Given the description of an element on the screen output the (x, y) to click on. 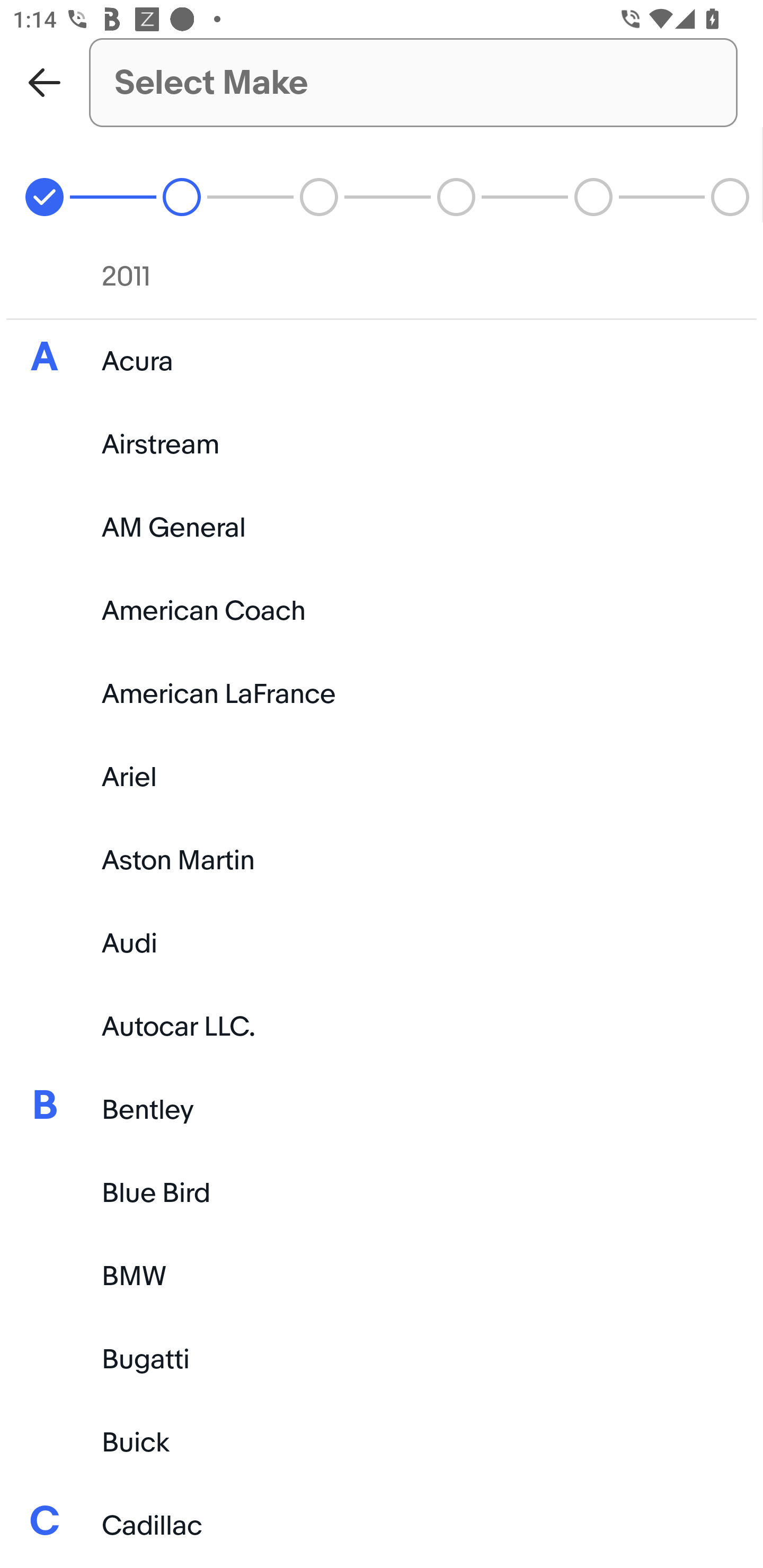
Back (44, 82)
Select Make (413, 82)
A Acura (381, 360)
Airstream (381, 444)
AM General (381, 527)
American Coach (381, 610)
American LaFrance (381, 693)
Ariel (381, 776)
Aston Martin (381, 859)
Audi (381, 942)
Autocar LLC. (381, 1025)
B Bentley (381, 1108)
Blue Bird (381, 1192)
BMW (381, 1276)
Bugatti (381, 1359)
Buick (381, 1442)
C Cadillac (381, 1526)
